Given the description of an element on the screen output the (x, y) to click on. 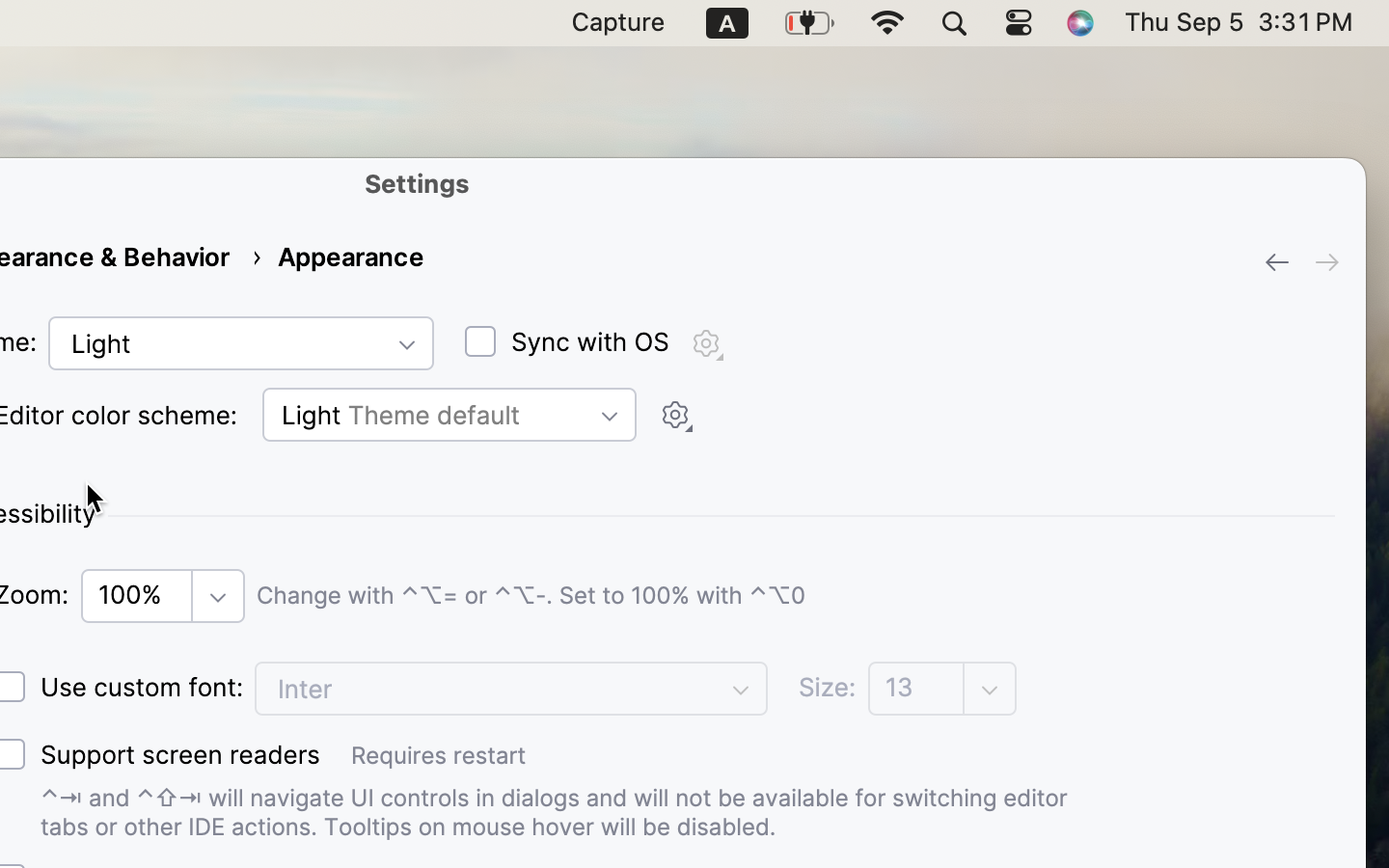
Inter Element type: AXPopUpButton (510, 688)
